Given the description of an element on the screen output the (x, y) to click on. 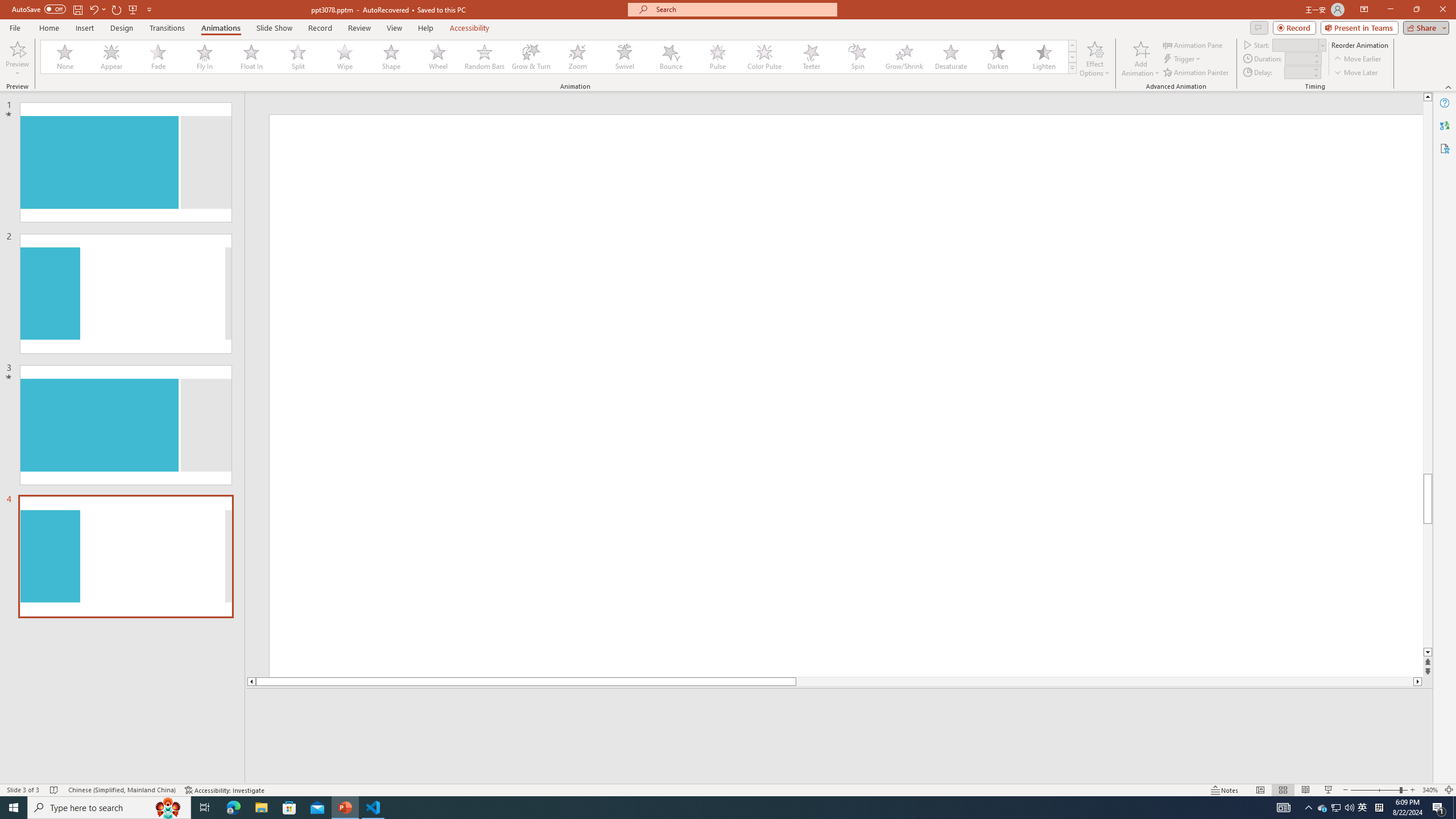
Split (298, 56)
Appear (111, 56)
Move Earlier (1357, 58)
Fly In (205, 56)
Spin (857, 56)
Fade (158, 56)
